Given the description of an element on the screen output the (x, y) to click on. 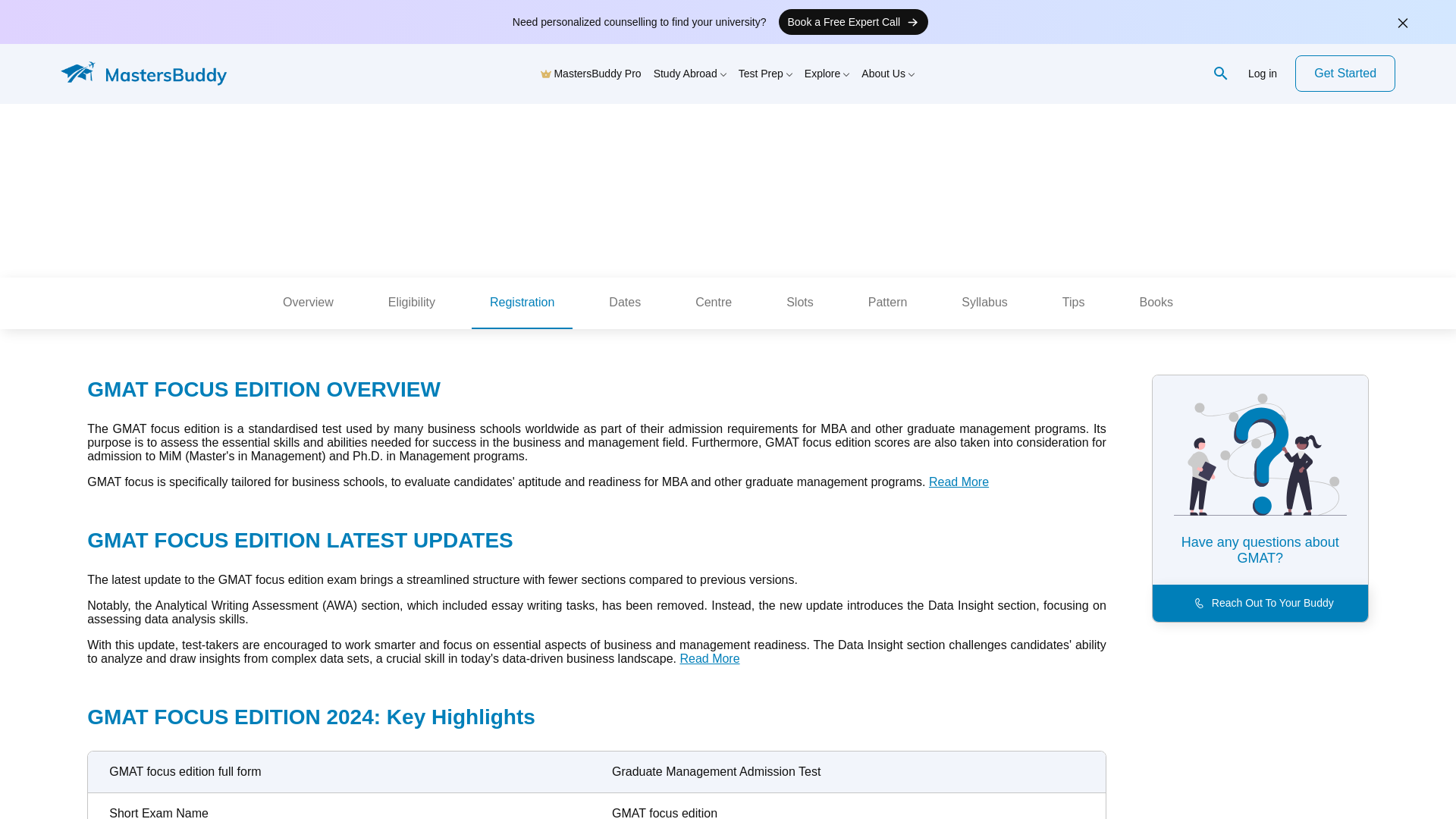
Mastersbuddy (152, 73)
MastersBuddy Pro (591, 73)
Study Abroad (689, 73)
Book a Free Expert Call (852, 22)
Test Prep (765, 73)
